Given the description of an element on the screen output the (x, y) to click on. 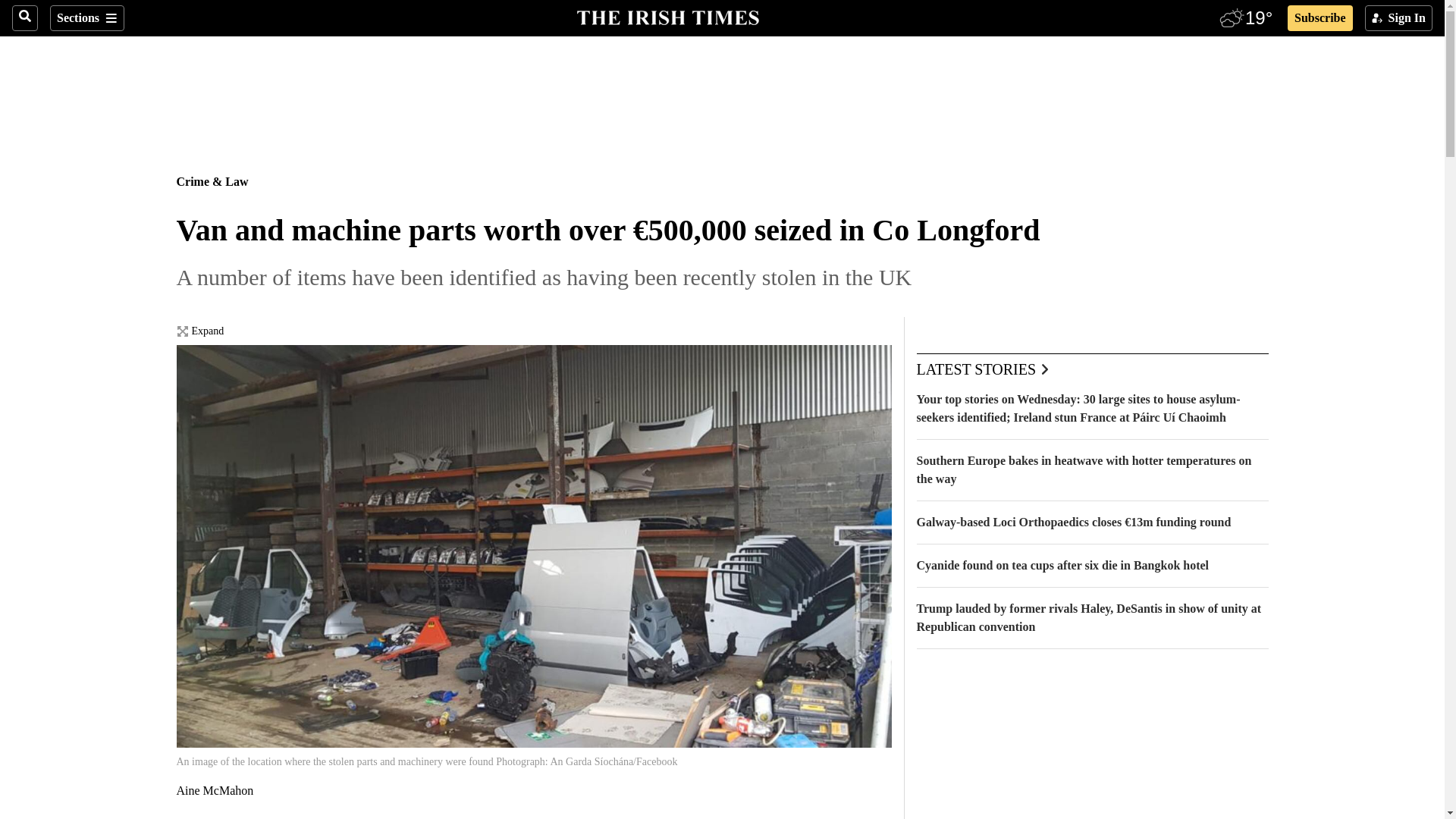
Sections (86, 17)
The Irish Times (667, 16)
Sign In (1398, 17)
Subscribe (1319, 17)
